Given the description of an element on the screen output the (x, y) to click on. 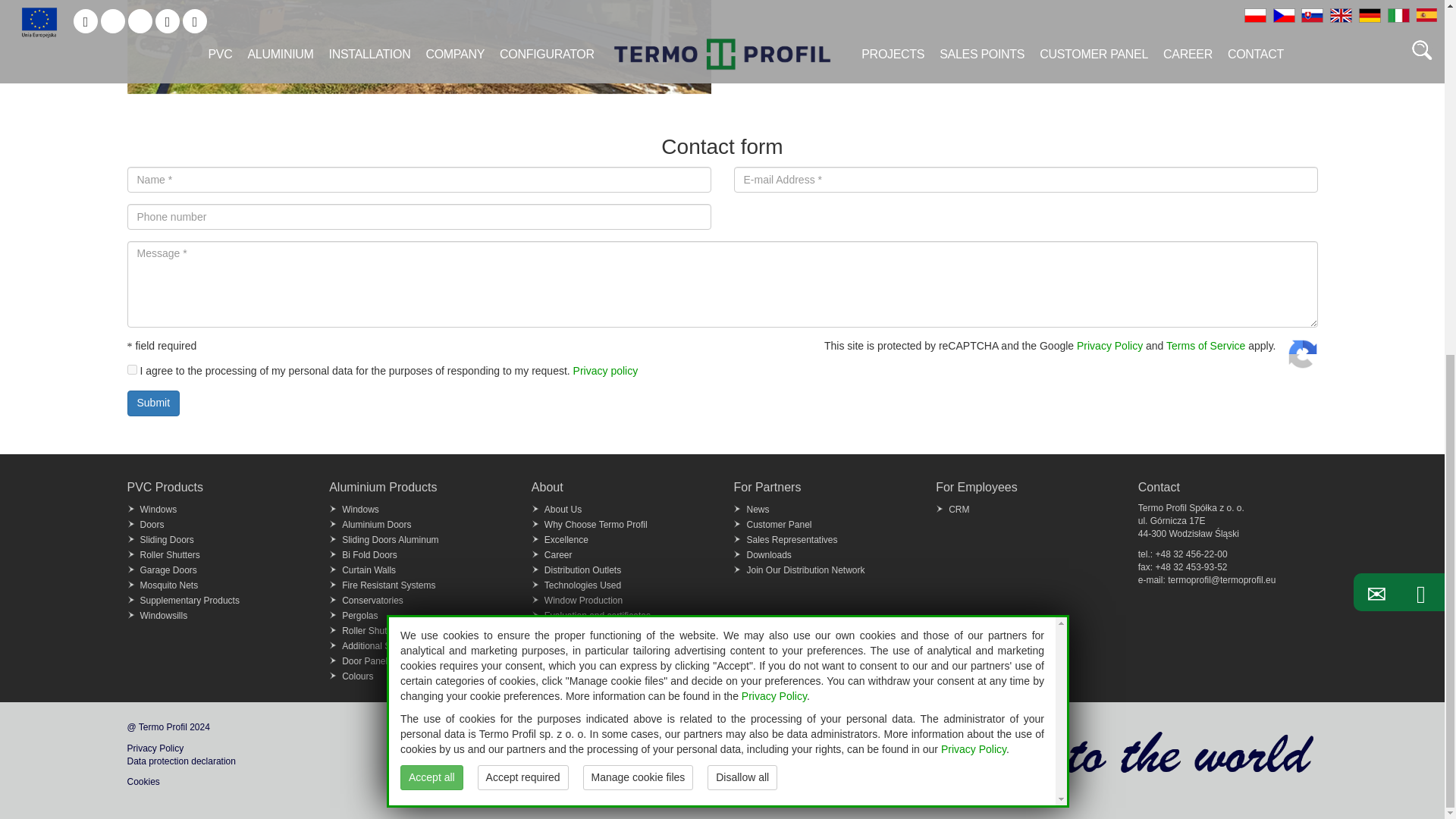
1 (132, 369)
